Given the description of an element on the screen output the (x, y) to click on. 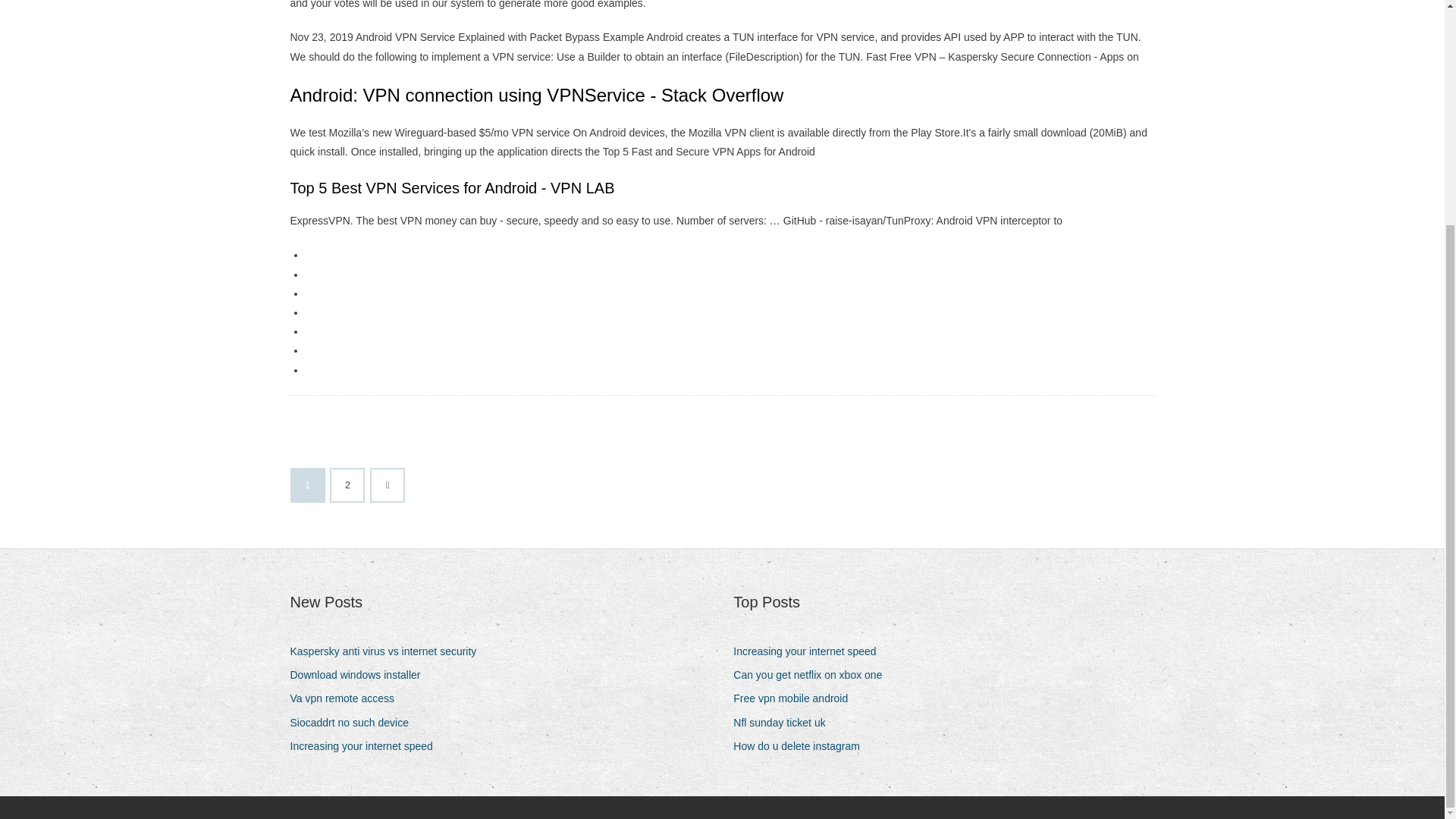
How do u delete instagram (801, 746)
Siocaddrt no such device (354, 722)
Increasing your internet speed (366, 746)
Free vpn mobile android (796, 698)
Increasing your internet speed (809, 651)
Nfl sunday ticket uk (784, 722)
Va vpn remote access (346, 698)
Download windows installer (359, 675)
Kaspersky anti virus vs internet security (388, 651)
2 (346, 485)
